Given the description of an element on the screen output the (x, y) to click on. 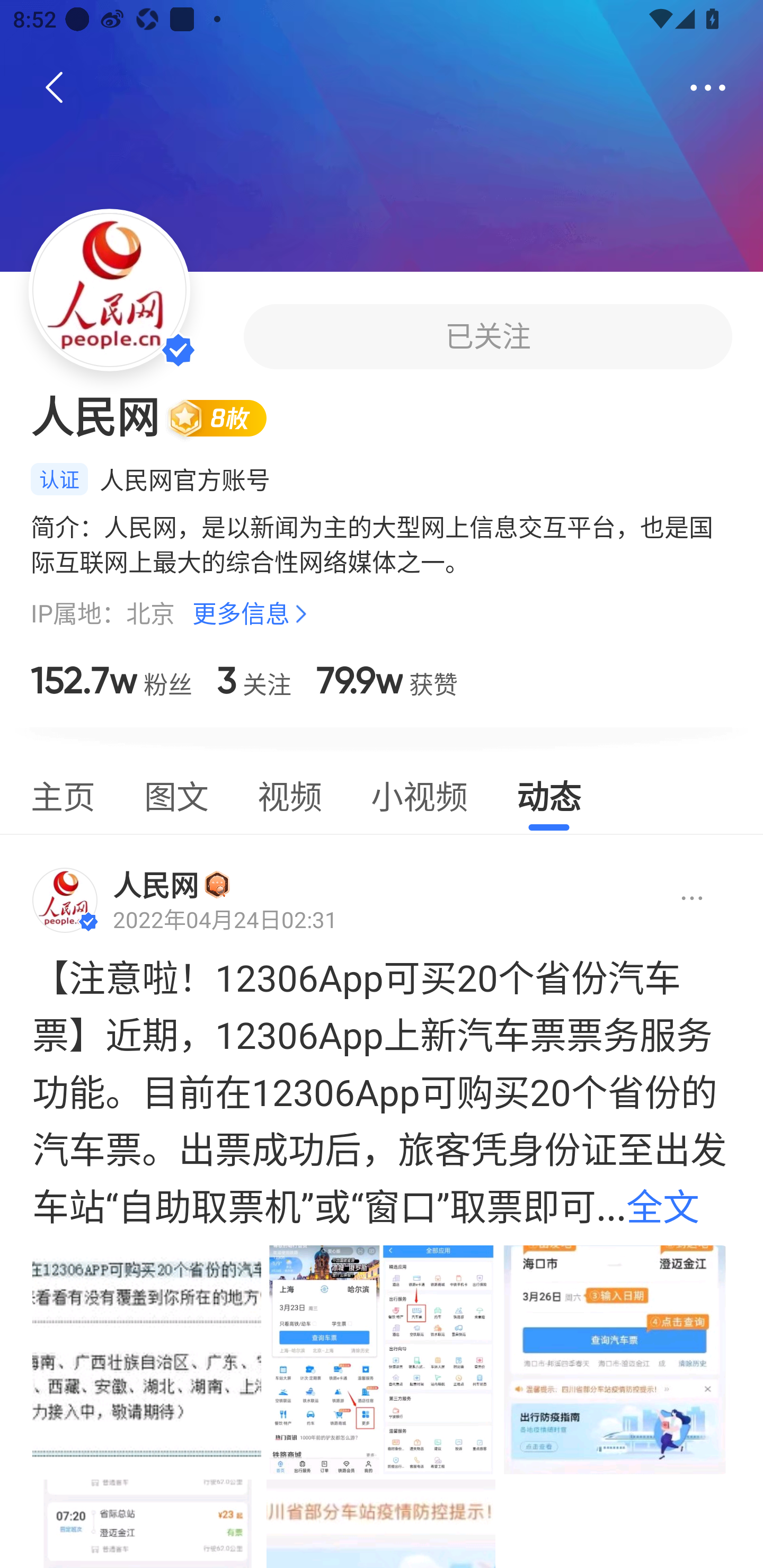
 返回 (54, 87)
 更多 (707, 87)
已关注 (487, 336)
8枚 (224, 417)
认证 (58, 478)
简介：人民网，是以新闻为主的大型网上信息交互平台，也是国际互联网上最大的综合性网络媒体之一。 (381, 543)
152.7w 粉丝 (111, 680)
3 关注 (253, 680)
79.9w 获赞 (386, 680)
主页 (62, 793)
图文 (176, 793)
视频 (289, 793)
小视频 (419, 793)
动态 (548, 793)
人民网 (155, 884)
 (676, 899)
勋章 (216, 884)
2022年04月24日02:31 (224, 919)
